Given the description of an element on the screen output the (x, y) to click on. 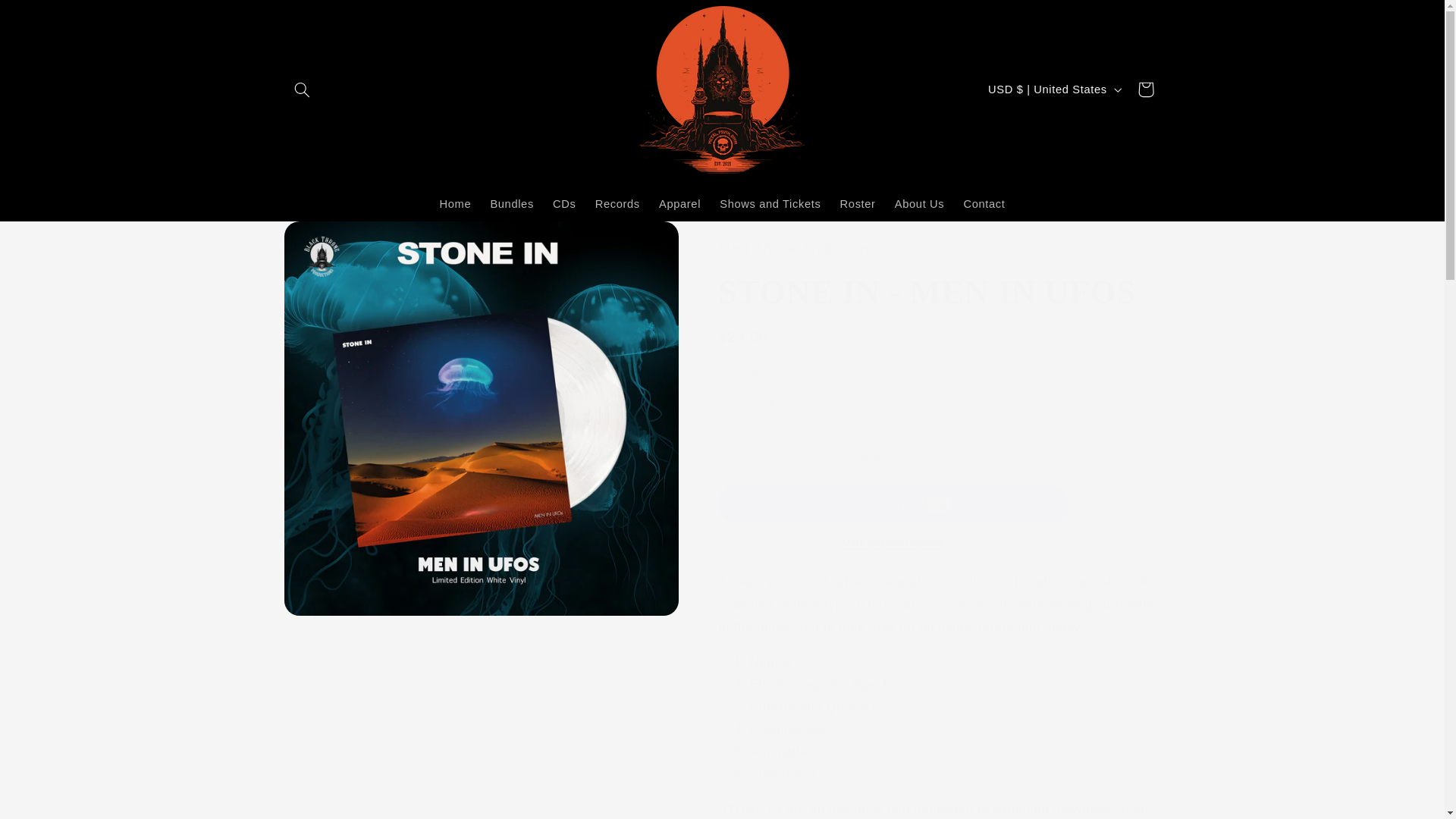
About Us (919, 204)
Bundles (511, 204)
CDs (564, 204)
Apparel (679, 204)
Increase quantity for STONE IN - MEN IN UFOS (807, 402)
Skip to product information (331, 238)
Cart (1145, 89)
Home (454, 204)
Contact (983, 204)
Records (617, 204)
Roster (857, 204)
Shows and Tickets (769, 204)
1 (771, 402)
Decrease quantity for STONE IN - MEN IN UFOS (735, 402)
